Given the description of an element on the screen output the (x, y) to click on. 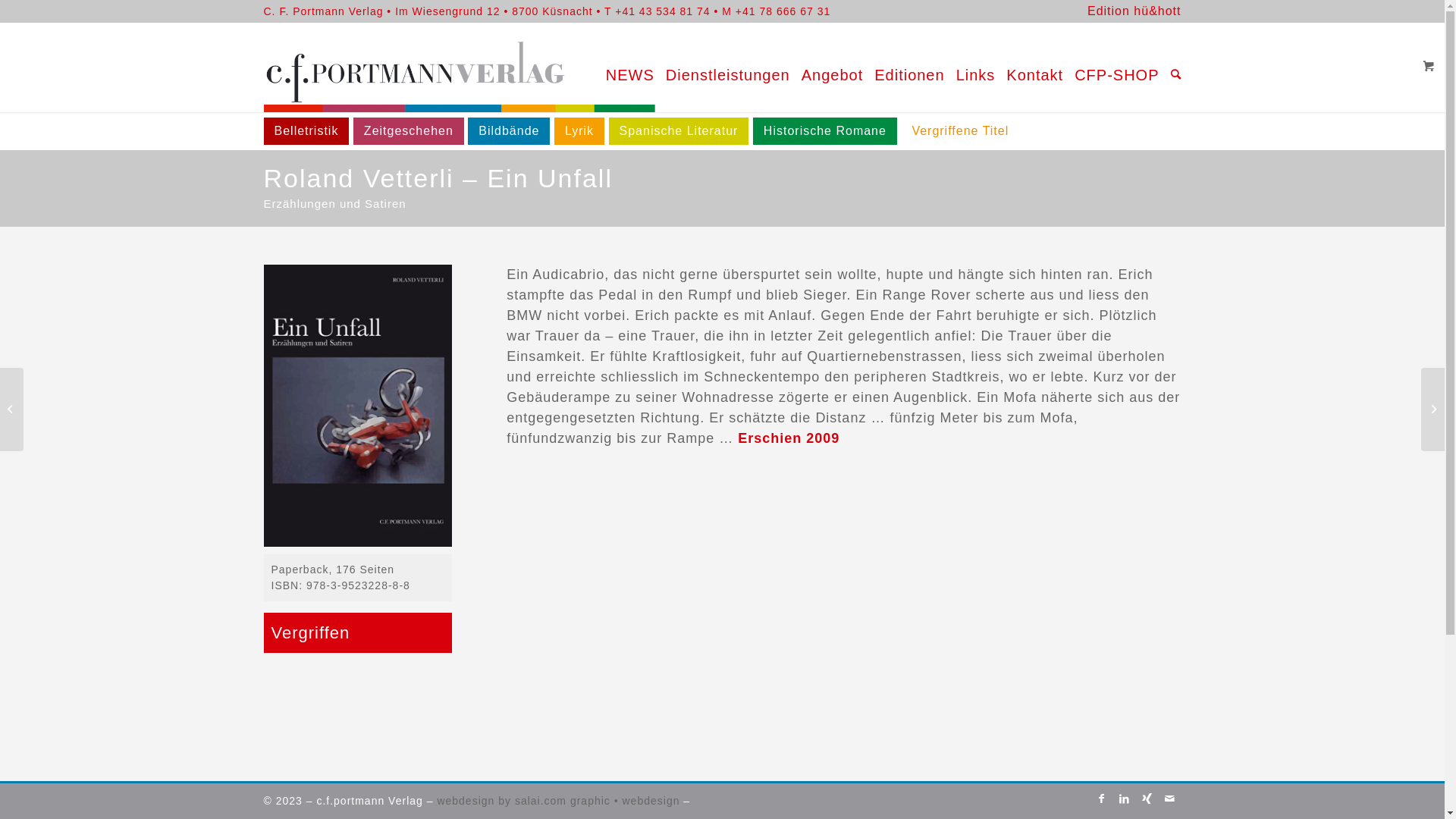
NEWS Element type: text (624, 67)
Dienstleistungen Element type: text (722, 67)
Zeitgeschehen Element type: text (408, 130)
Facebook Element type: hover (1101, 798)
Mail Element type: hover (1169, 798)
logo_cfp_corner Element type: hover (466, 67)
CFP-SHOP Element type: text (1110, 67)
Lyrik Element type: text (579, 130)
vetterliunfall Element type: hover (357, 405)
LinkedIn Element type: hover (1124, 798)
Belletristik Element type: text (306, 130)
Vergriffene Titel Element type: text (959, 130)
Historische Romane Element type: text (825, 130)
Kontakt Element type: text (1028, 67)
Links Element type: text (969, 67)
Angebot Element type: text (826, 67)
Spanische Literatur Element type: text (678, 130)
Xing Element type: hover (1146, 798)
Editionen Element type: text (903, 67)
